Given the description of an element on the screen output the (x, y) to click on. 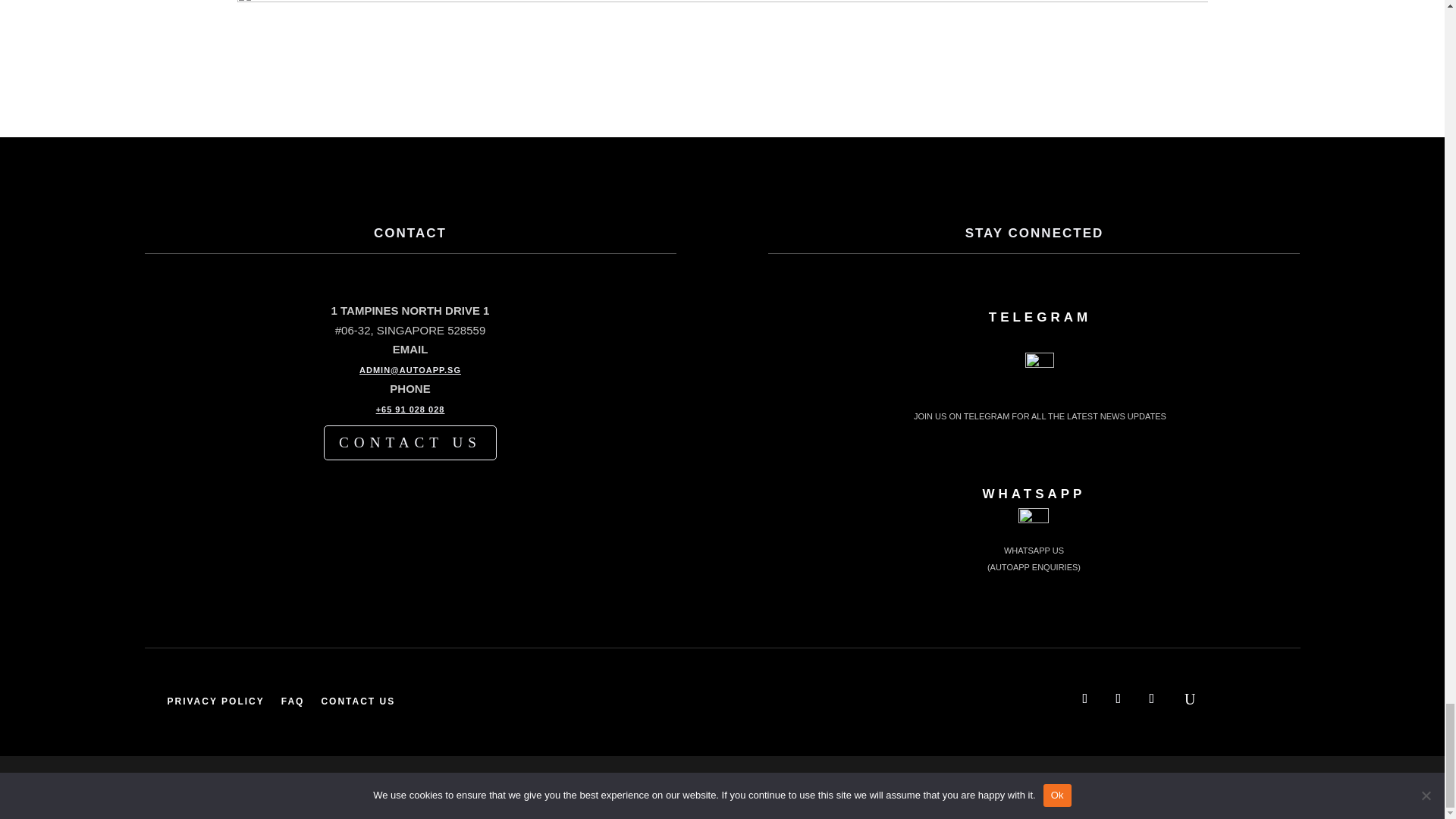
Follow on Facebook (1085, 697)
autoapp super tyre deals longer copy (721, 61)
Follow on Youtube (1118, 697)
Follow on Instagram (1152, 697)
